Given the description of an element on the screen output the (x, y) to click on. 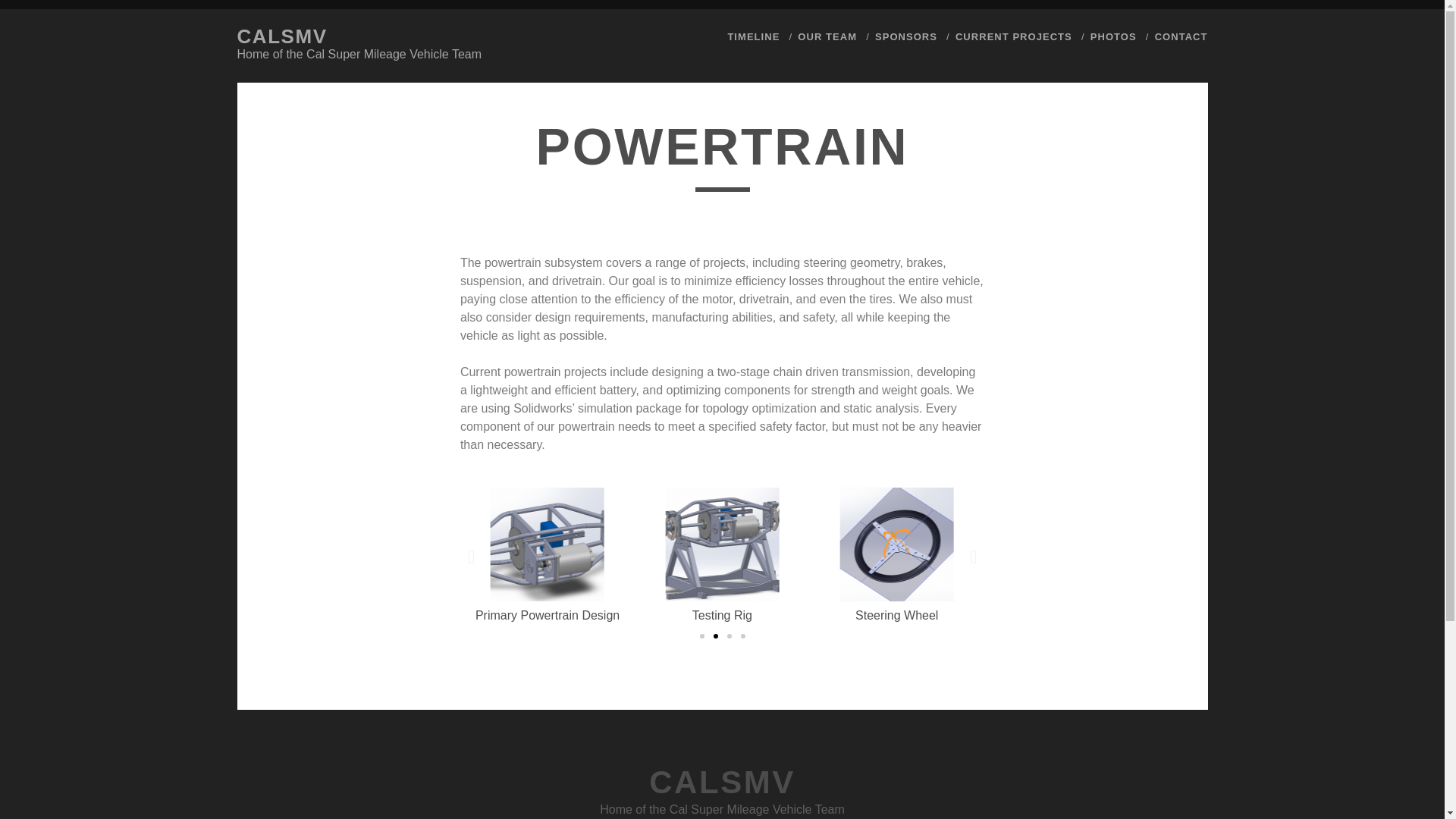
CALSMV (280, 36)
CURRENT PROJECTS (1013, 36)
CONTACT (1181, 36)
SPONSORS (906, 36)
OUR TEAM (827, 36)
TIMELINE (752, 36)
PHOTOS (1113, 36)
CALSMV (721, 782)
calsmv (280, 36)
